Given the description of an element on the screen output the (x, y) to click on. 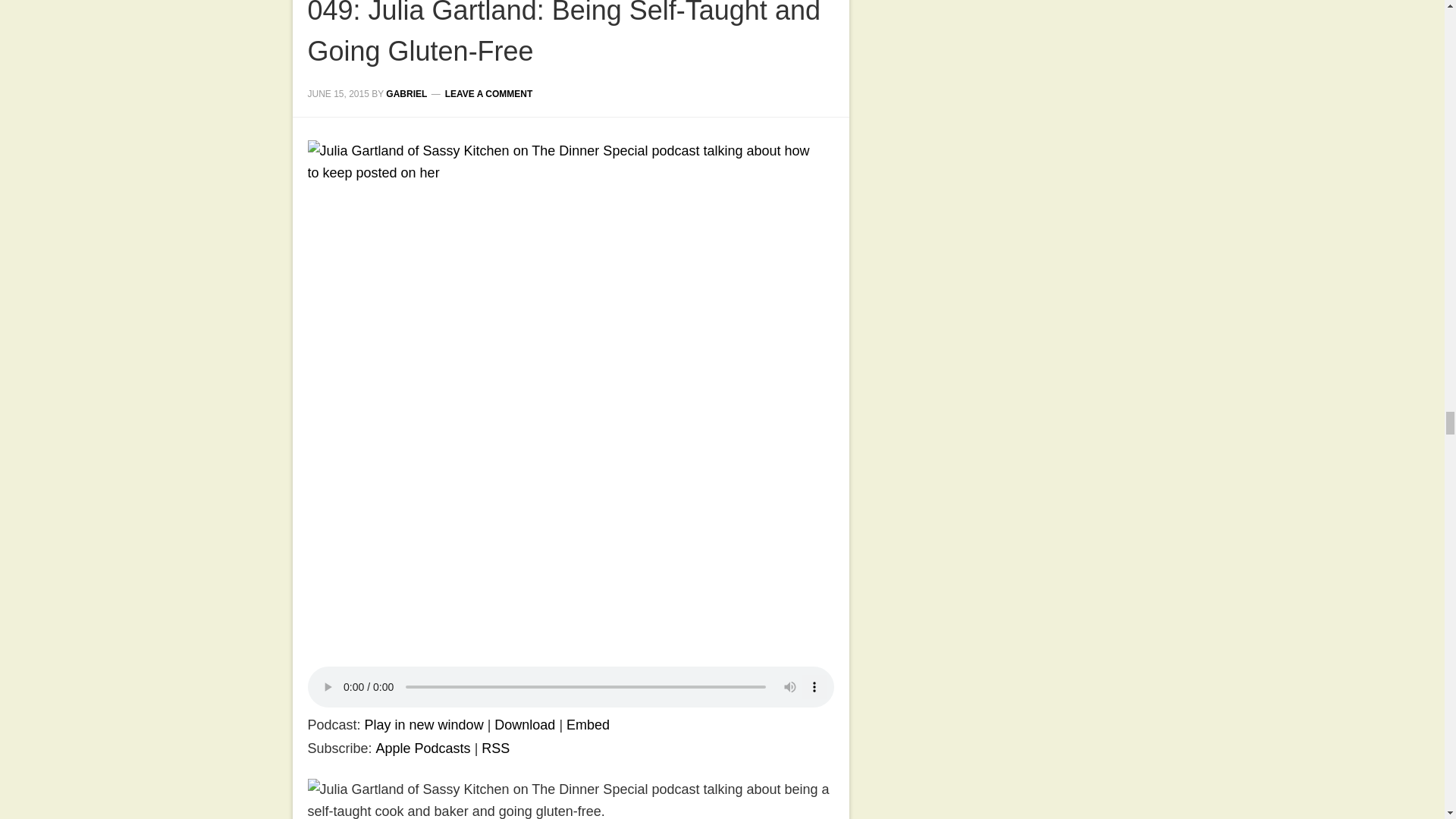
Download (524, 724)
Play in new window (424, 724)
Embed (588, 724)
